Given the description of an element on the screen output the (x, y) to click on. 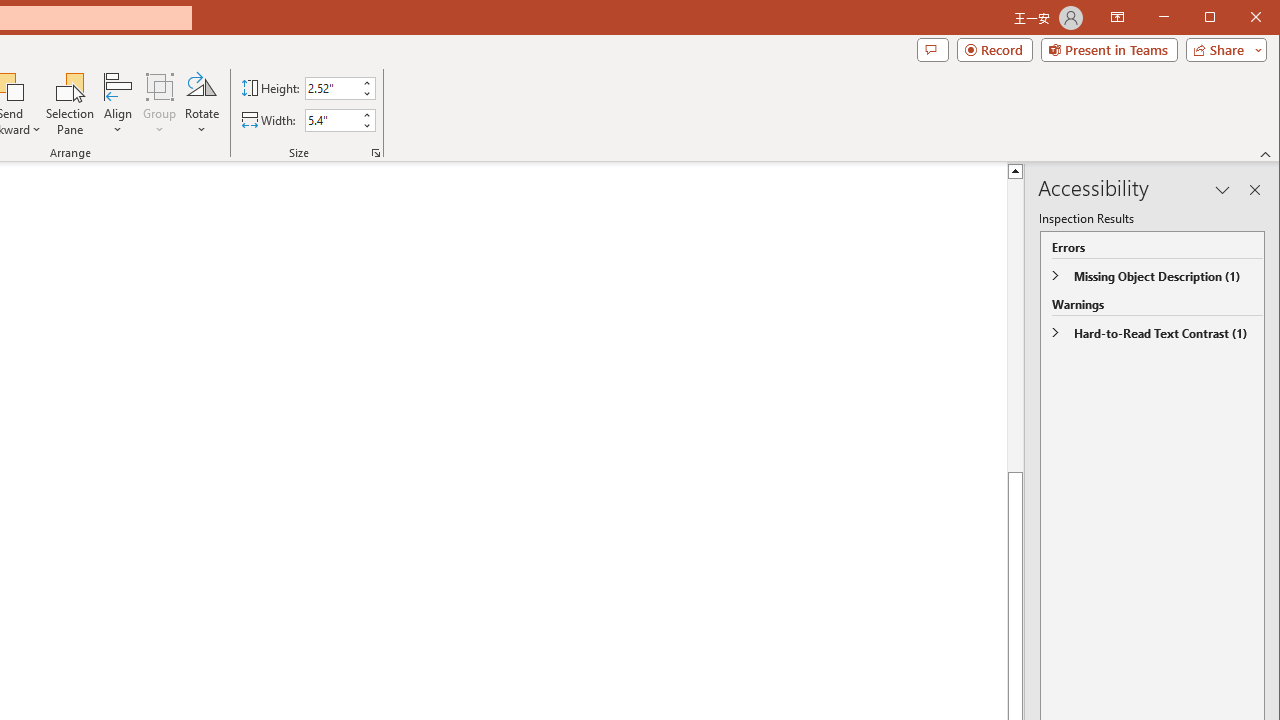
Rotate (201, 104)
Size and Position... (376, 152)
Shape Width (331, 120)
Selection Pane... (70, 104)
